Given the description of an element on the screen output the (x, y) to click on. 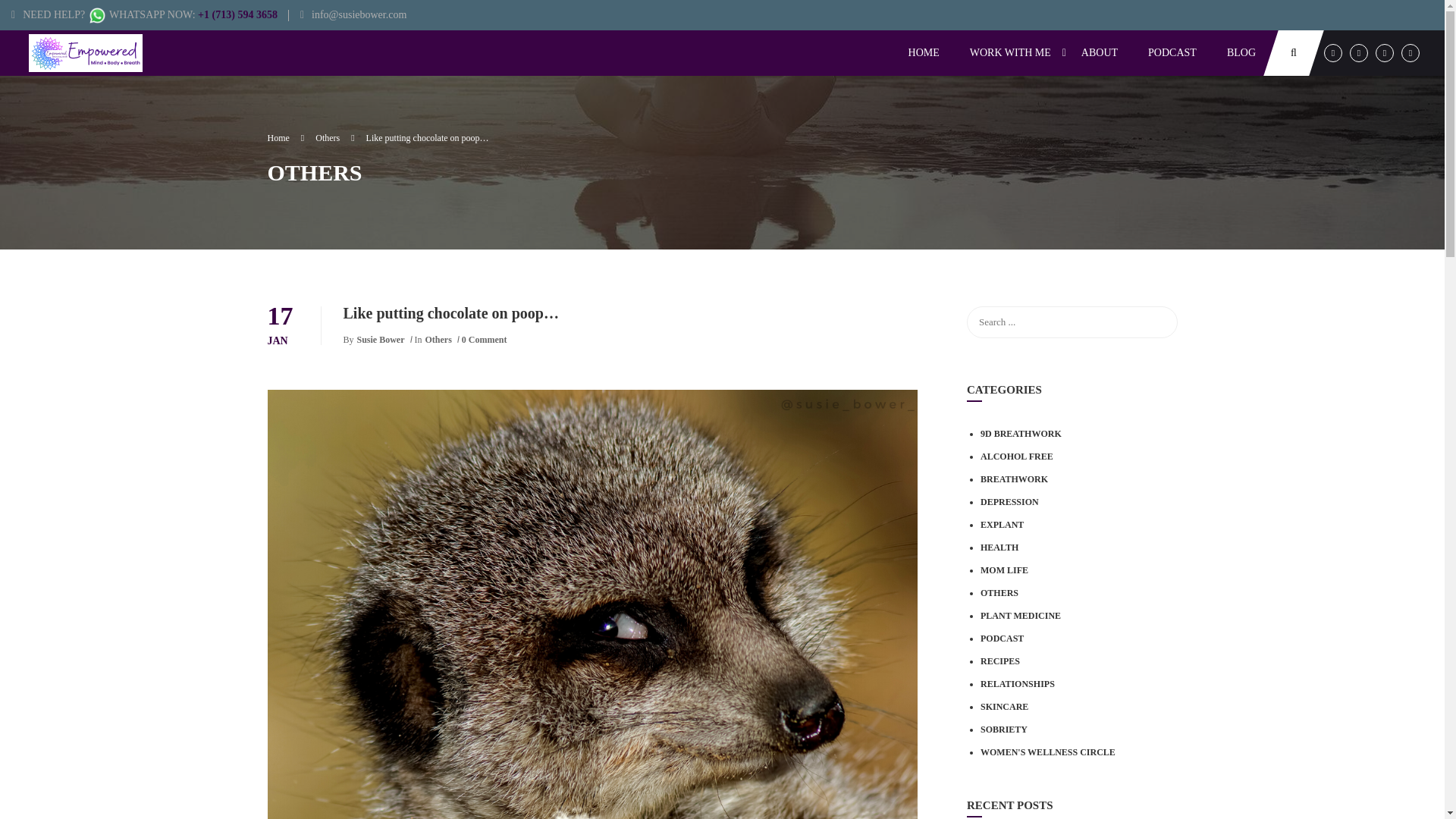
Susie Bower - Awareness brings change (88, 53)
Others (436, 338)
Home (285, 138)
ABOUT (1098, 53)
WORK WITH ME (1010, 53)
Home (285, 138)
HOME (924, 53)
Others (334, 138)
Others (334, 138)
BLOG (1241, 53)
